Given the description of an element on the screen output the (x, y) to click on. 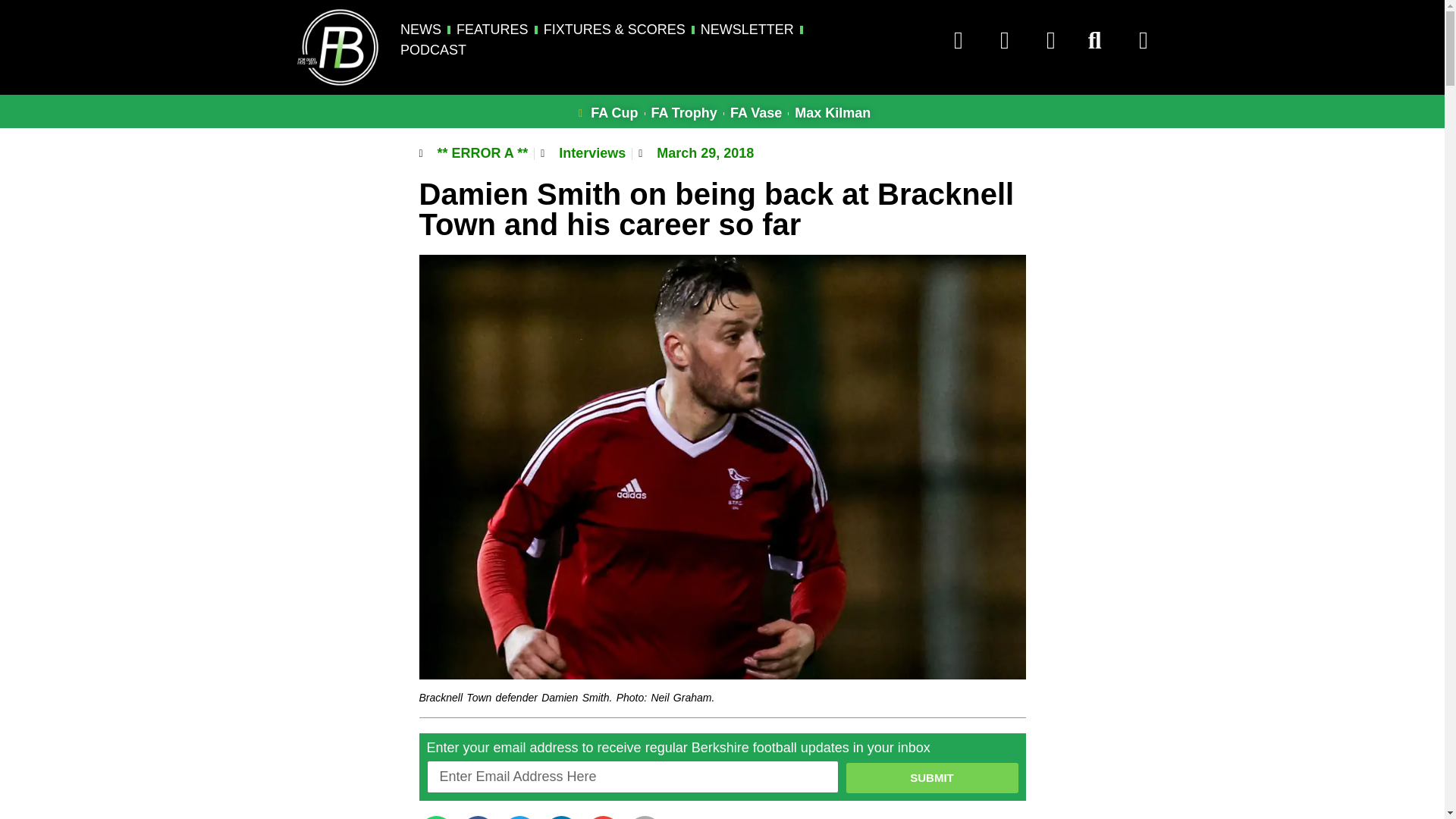
PODCAST (432, 50)
March 29, 2018 (696, 153)
Max Kilman (832, 113)
NEWS (420, 29)
FA Trophy (683, 113)
NEWSLETTER (746, 29)
Interviews (592, 152)
FA Cup (606, 113)
FA Vase (755, 113)
FEATURES (492, 29)
SUBMIT (931, 777)
